Given the description of an element on the screen output the (x, y) to click on. 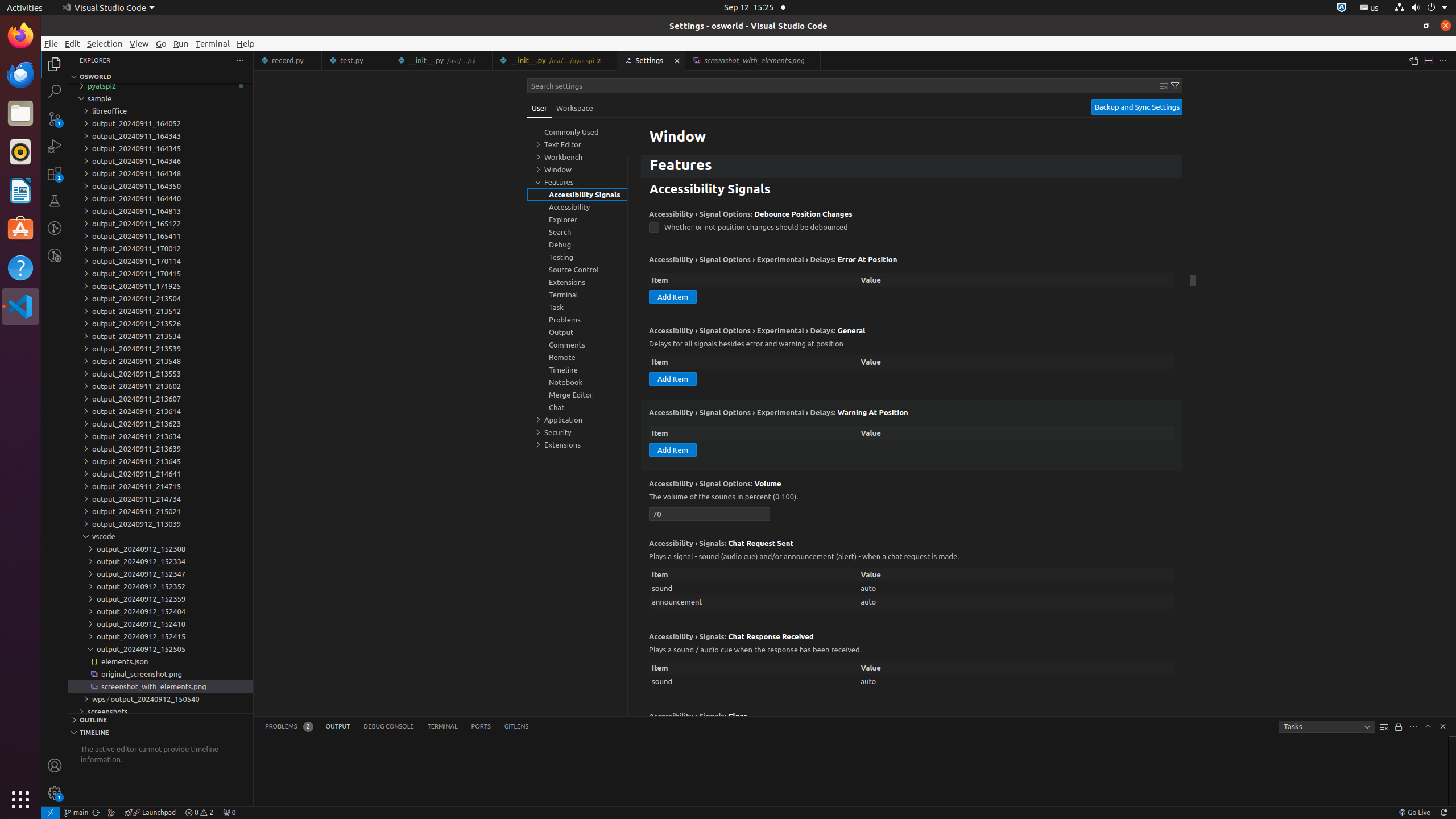
vscode Element type: tree-item (160, 536)
output_20240911_164052 Element type: tree-item (160, 123)
output_20240911_165411 Element type: tree-item (160, 235)
